Given the description of an element on the screen output the (x, y) to click on. 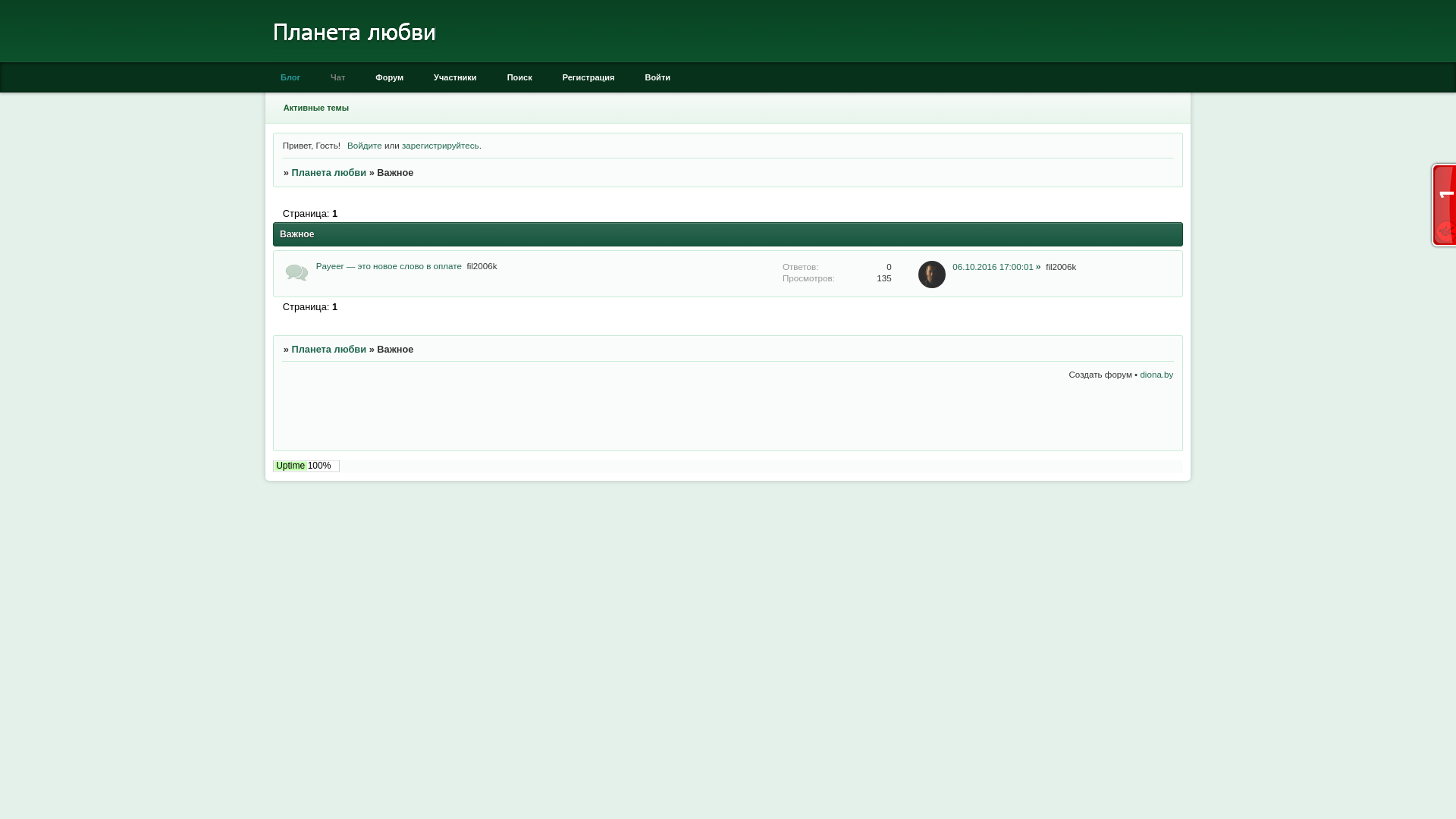
06.10.2016 17:00:01 Element type: text (996, 265)
LovePlanet Element type: hover (354, 58)
diona.by Element type: text (1156, 374)
Advertisement Element type: hover (995, 416)
